Given the description of an element on the screen output the (x, y) to click on. 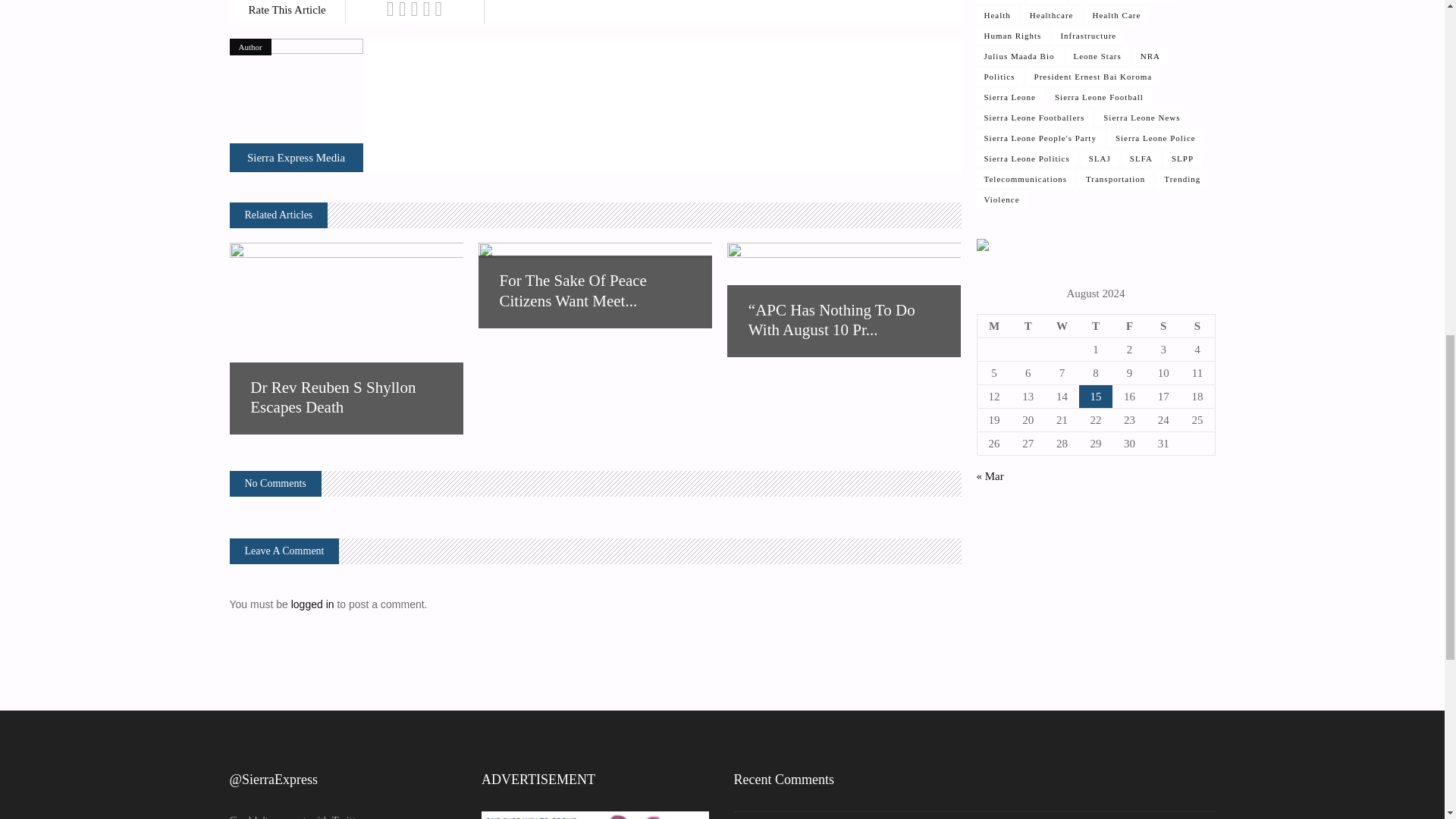
Friday (1129, 326)
Sunday (1196, 326)
Thursday (1095, 326)
Internet Programming Solutions - A SaloneTech Company (982, 246)
Wednesday (1061, 326)
Tuesday (1028, 326)
Monday (993, 326)
Saturday (1163, 326)
